Given the description of an element on the screen output the (x, y) to click on. 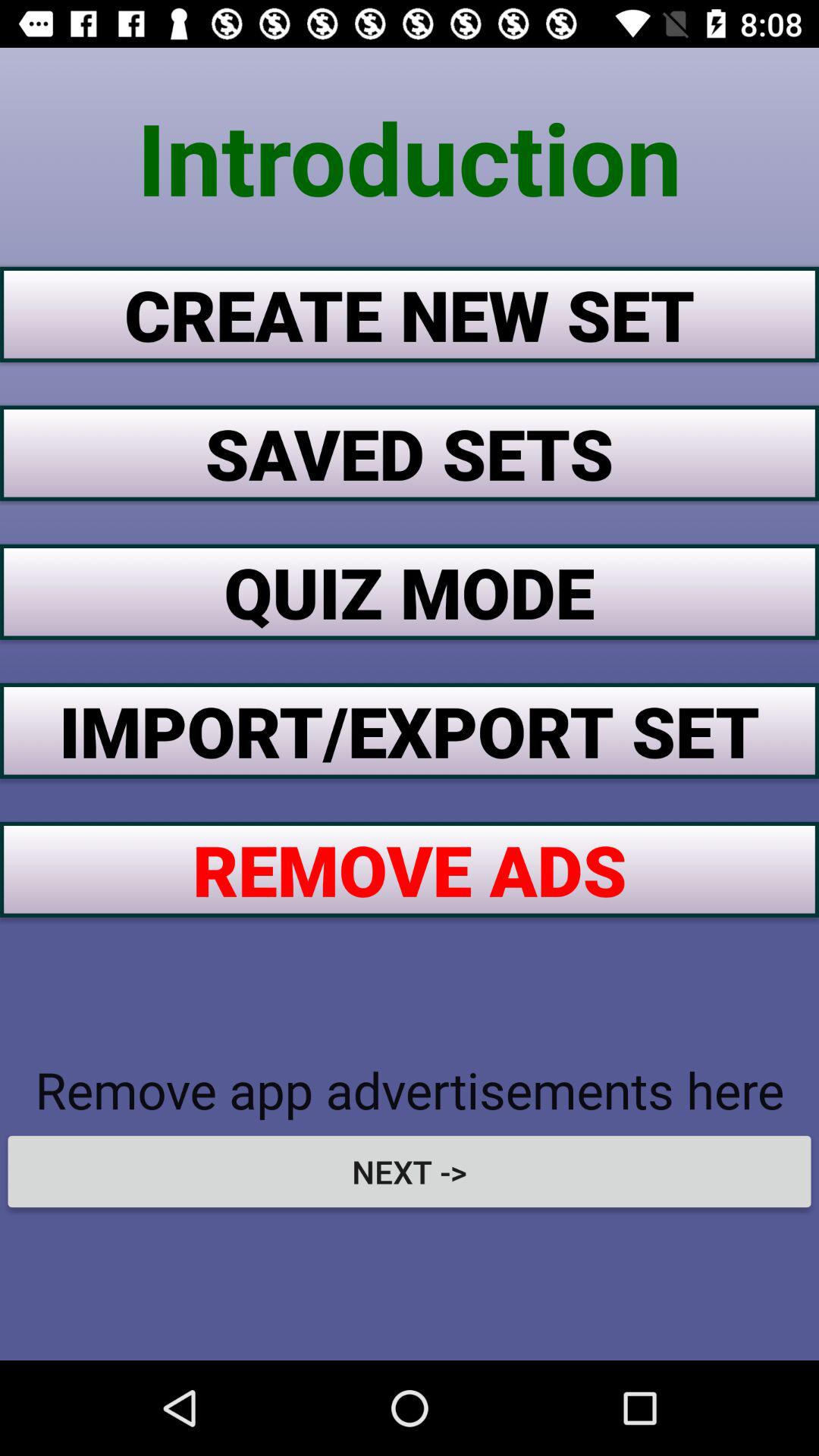
turn off icon below create new set icon (409, 453)
